Given the description of an element on the screen output the (x, y) to click on. 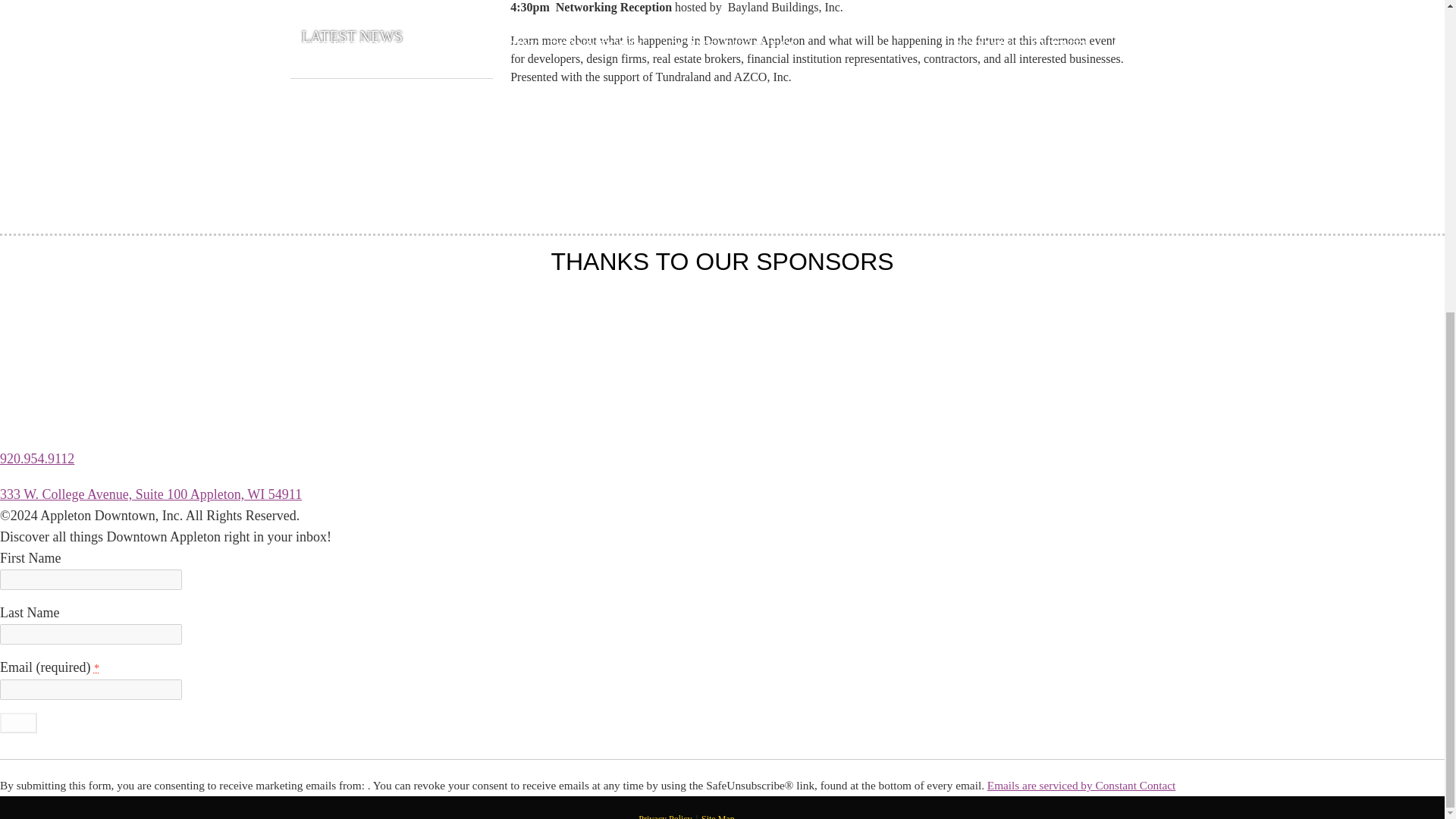
GO! (18, 722)
